Given the description of an element on the screen output the (x, y) to click on. 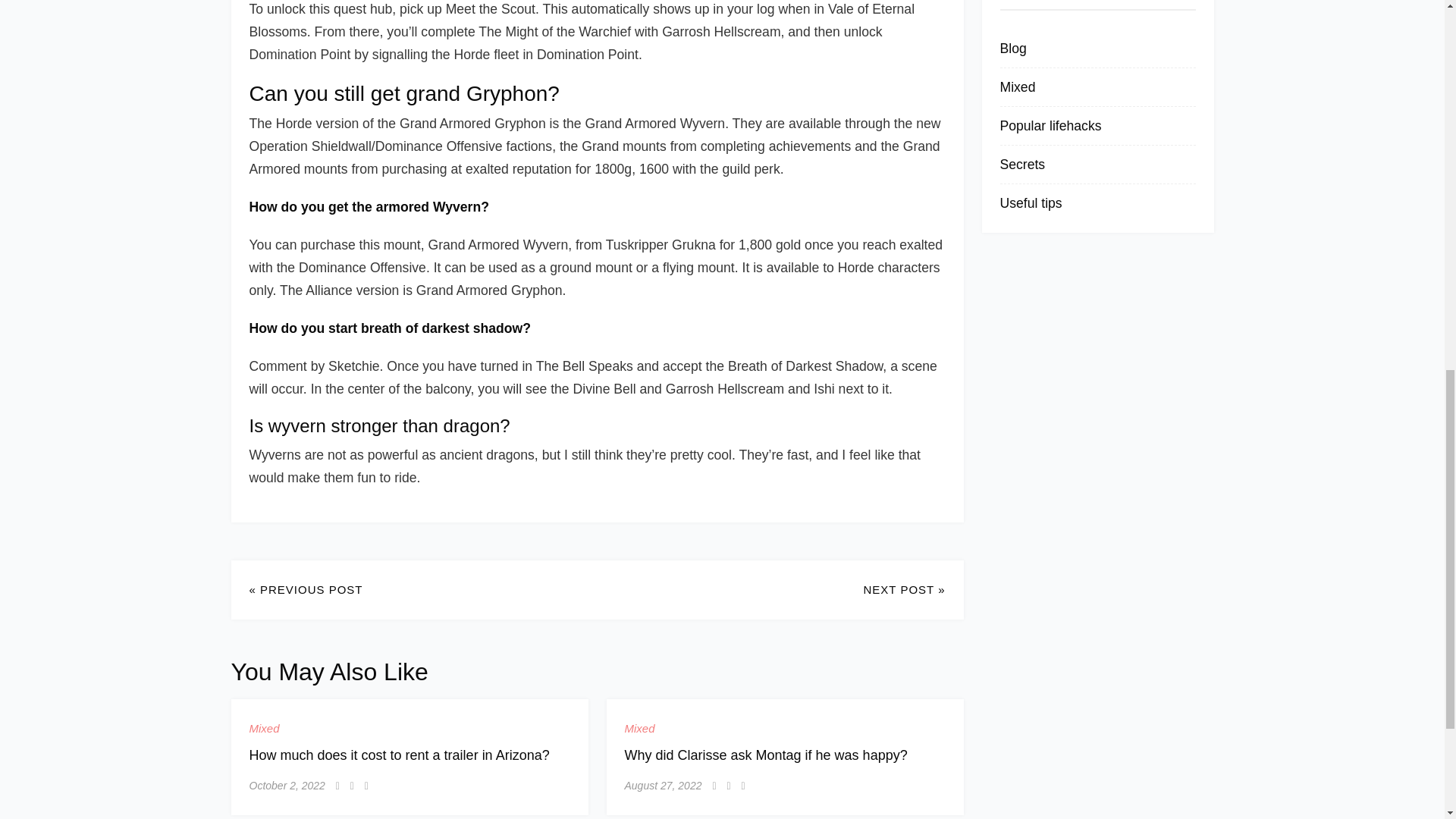
October 2, 2022 (286, 784)
Mixed (639, 728)
Mixed (263, 728)
How much does it cost to rent a trailer in Arizona? (398, 754)
August 27, 2022 (662, 784)
Why did Clarisse ask Montag if he was happy? (765, 754)
